Given the description of an element on the screen output the (x, y) to click on. 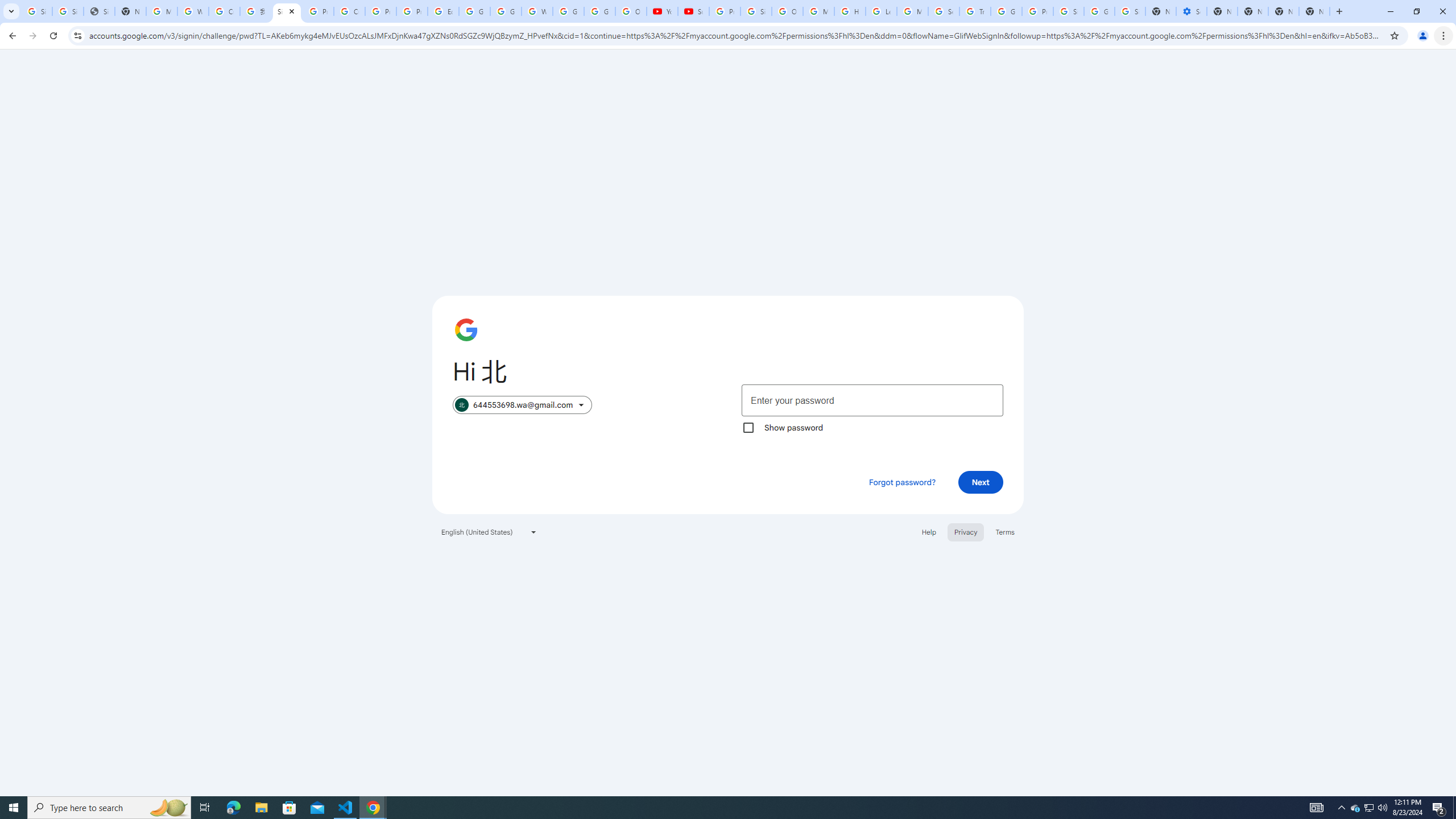
Forgot password? (901, 481)
644553698.wa@gmail.com selected. Switch account (522, 404)
Google Ads - Sign in (1005, 11)
Sign in - Google Accounts (1068, 11)
Subscriptions - YouTube (693, 11)
Trusted Information and Content - Google Safety Center (974, 11)
Edit and view right-to-left text - Google Docs Editors Help (443, 11)
